Given the description of an element on the screen output the (x, y) to click on. 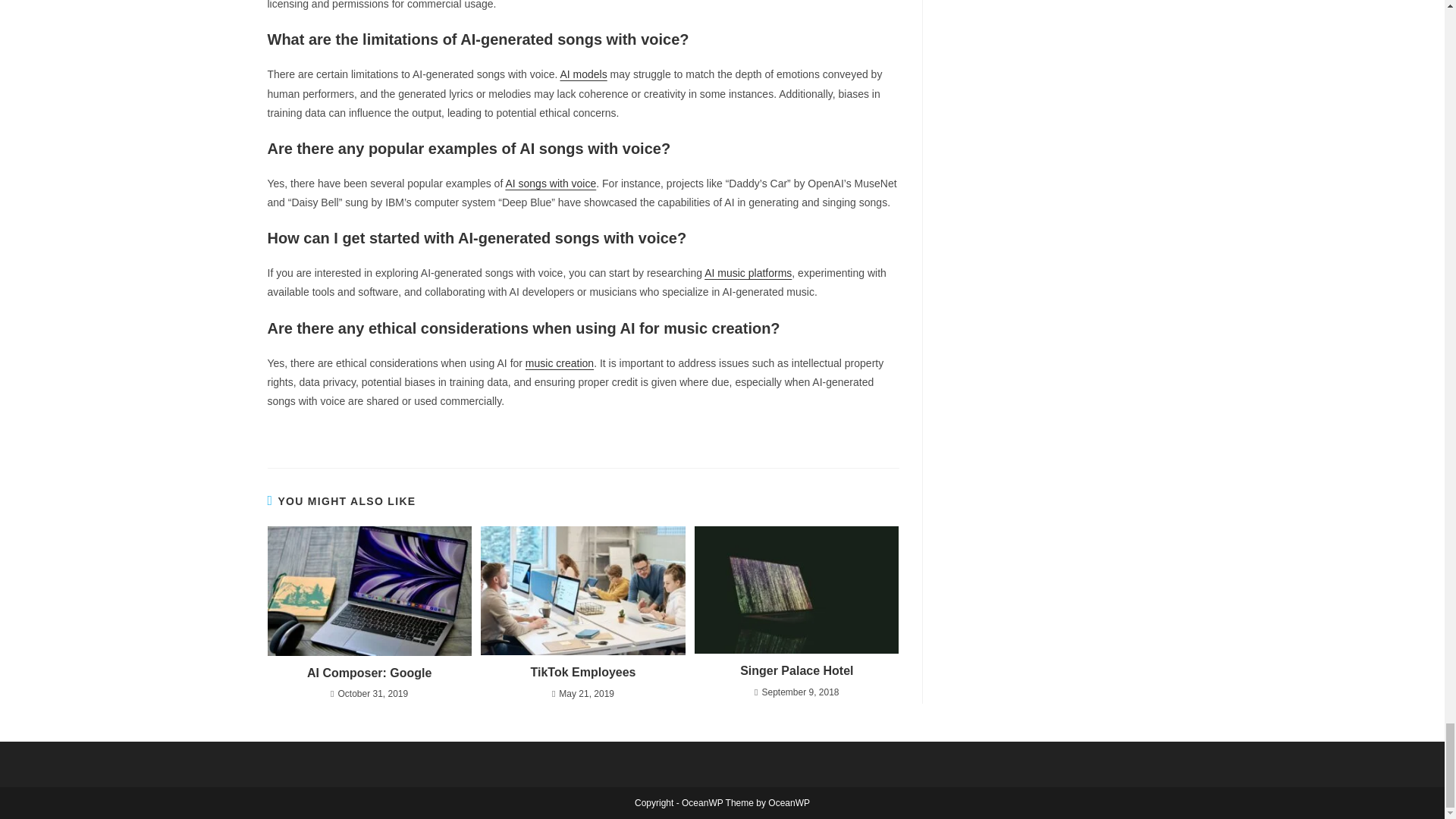
AI models (583, 73)
AI songs with voice (550, 183)
music creation (559, 363)
AI music platforms (748, 272)
AI Composer: Google (368, 673)
